Given the description of an element on the screen output the (x, y) to click on. 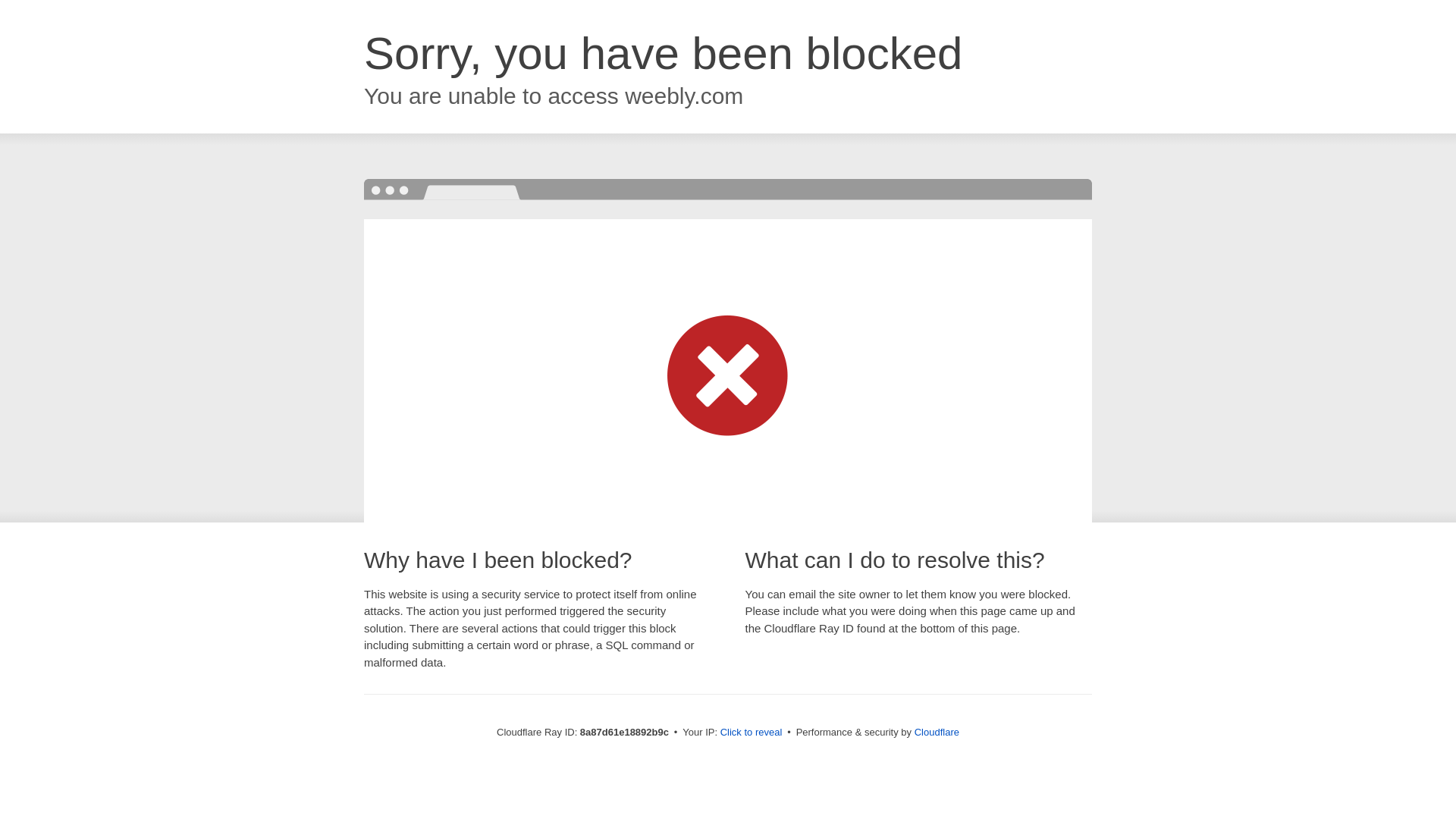
Cloudflare (936, 731)
Click to reveal (751, 732)
